Given the description of an element on the screen output the (x, y) to click on. 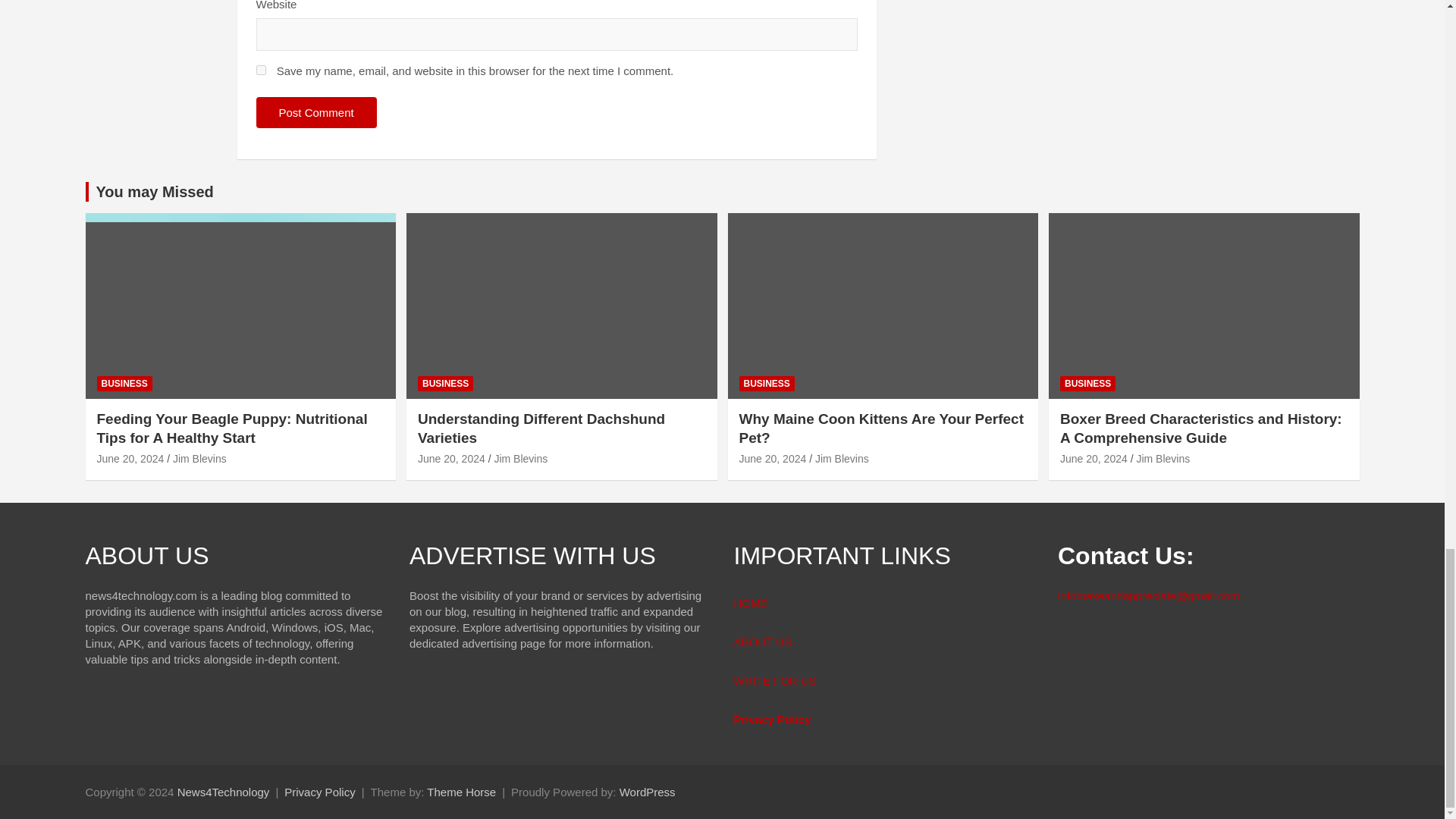
Why Maine Coon Kittens Are Your Perfect Pet? (772, 458)
WordPress (647, 791)
yes (261, 70)
News4Technology (223, 791)
Theme Horse (461, 791)
Understanding Different Dachshund Varieties (450, 458)
Post Comment (316, 112)
Post Comment (316, 112)
